Given the description of an element on the screen output the (x, y) to click on. 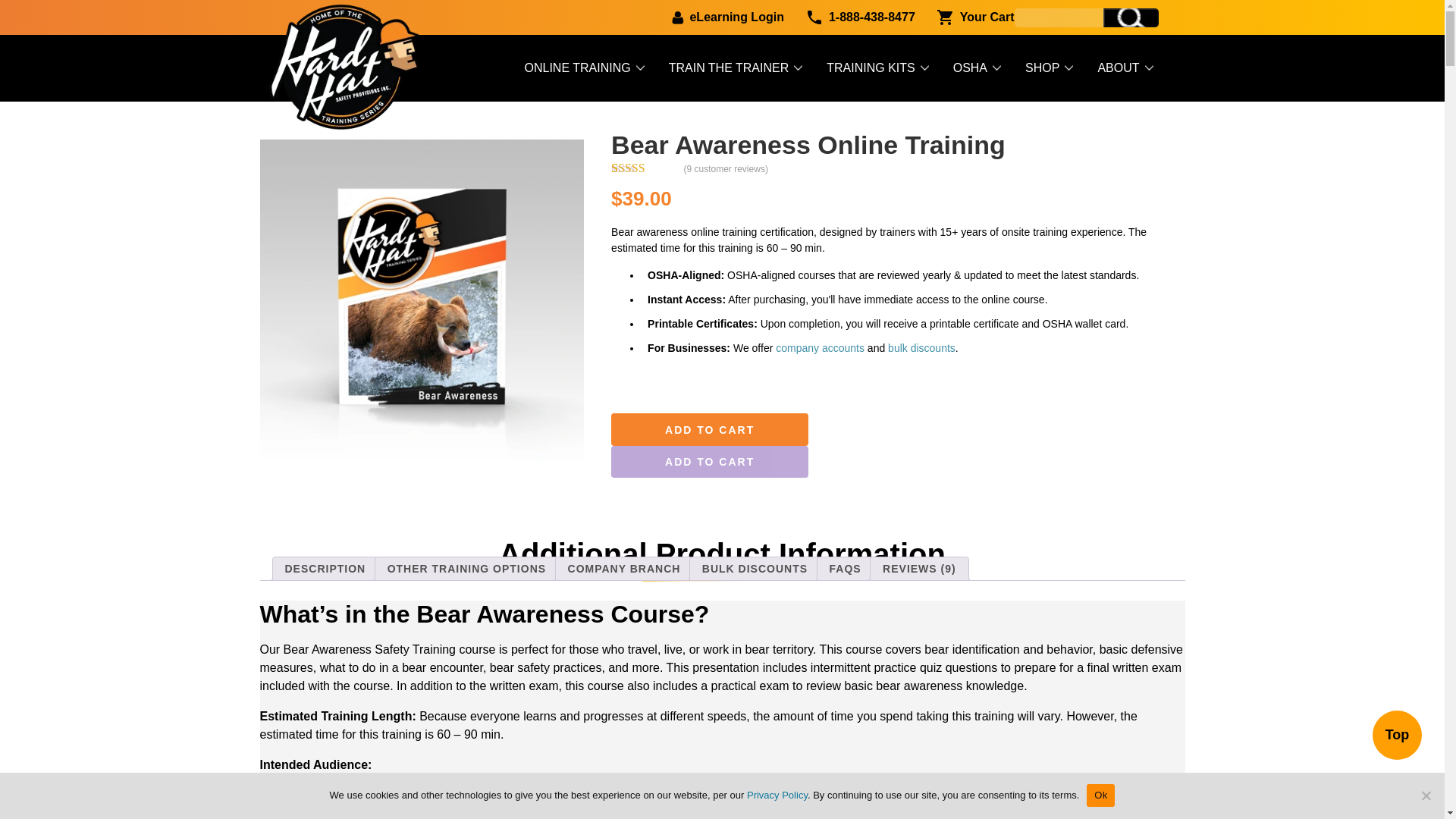
Search (1130, 16)
ONLINE TRAINING (585, 67)
eLearning Login (716, 19)
No (1425, 795)
TRAIN THE TRAINER (736, 67)
TRAINING KITS (877, 67)
OSHA (977, 67)
Top (1397, 735)
SHOP (1049, 67)
ABOUT (1126, 67)
Your Cart (964, 19)
Search (1130, 16)
Bear-Awareness-Construction-Safety-Training (421, 301)
Scroll to the top (1397, 735)
1-888-438-8477 (849, 19)
